Given the description of an element on the screen output the (x, y) to click on. 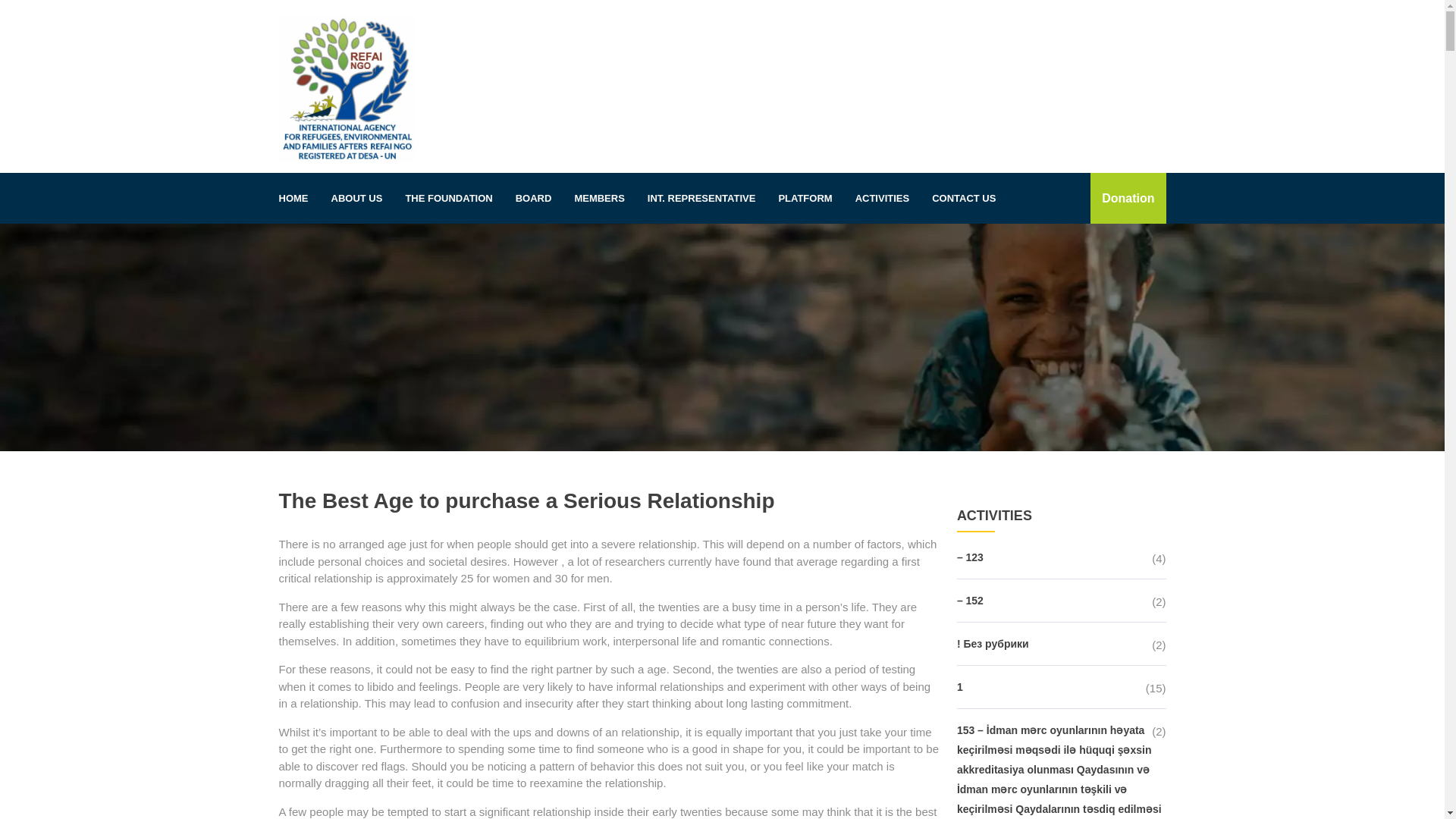
INT. REPRESENTATIVE (701, 198)
ABOUT US (357, 198)
BOARD (533, 198)
MEMBERS (598, 198)
PLATFORM (805, 198)
THE FOUNDATION (448, 198)
